Given the description of an element on the screen output the (x, y) to click on. 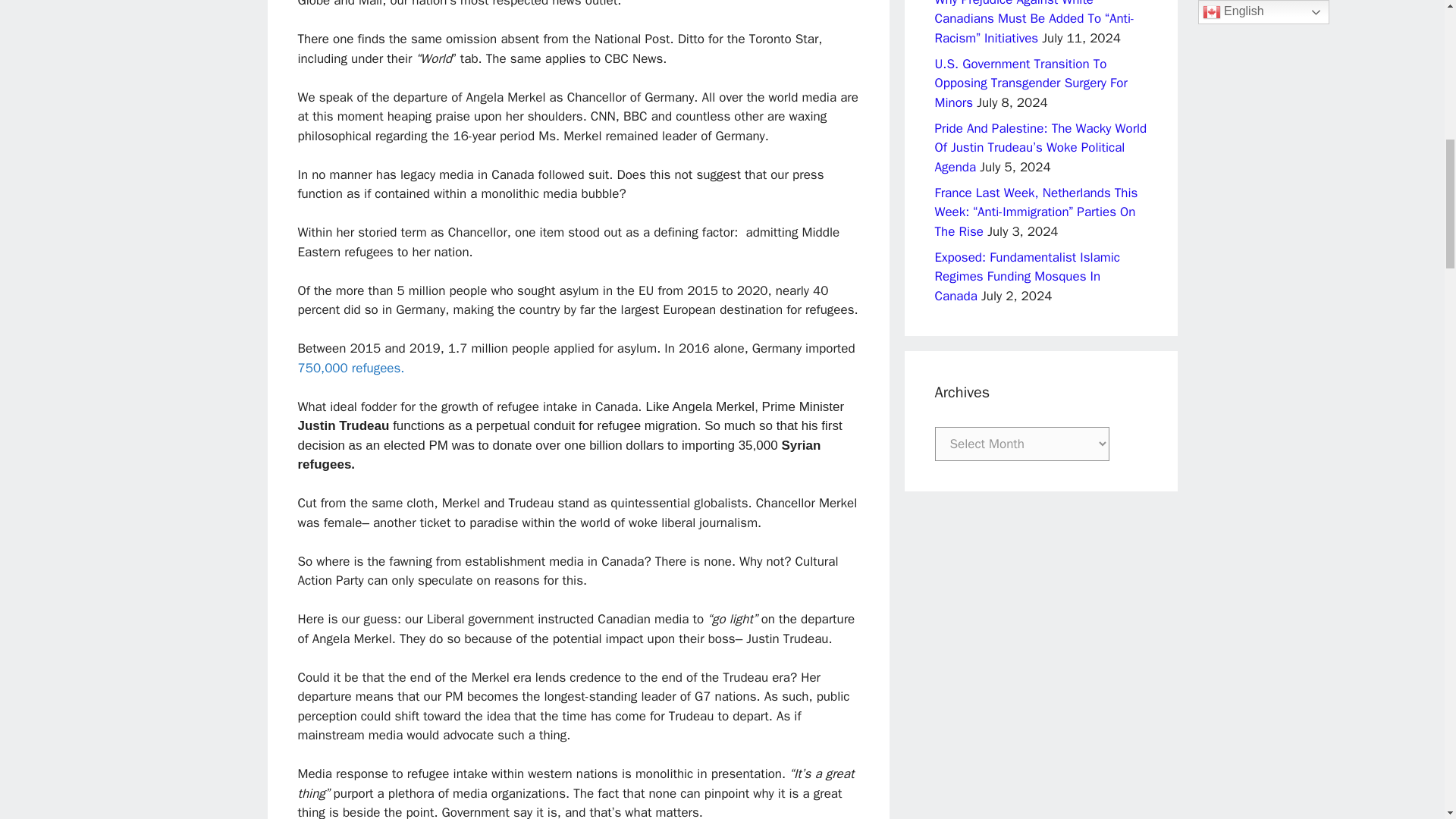
750,000 refugees. (350, 367)
